Given the description of an element on the screen output the (x, y) to click on. 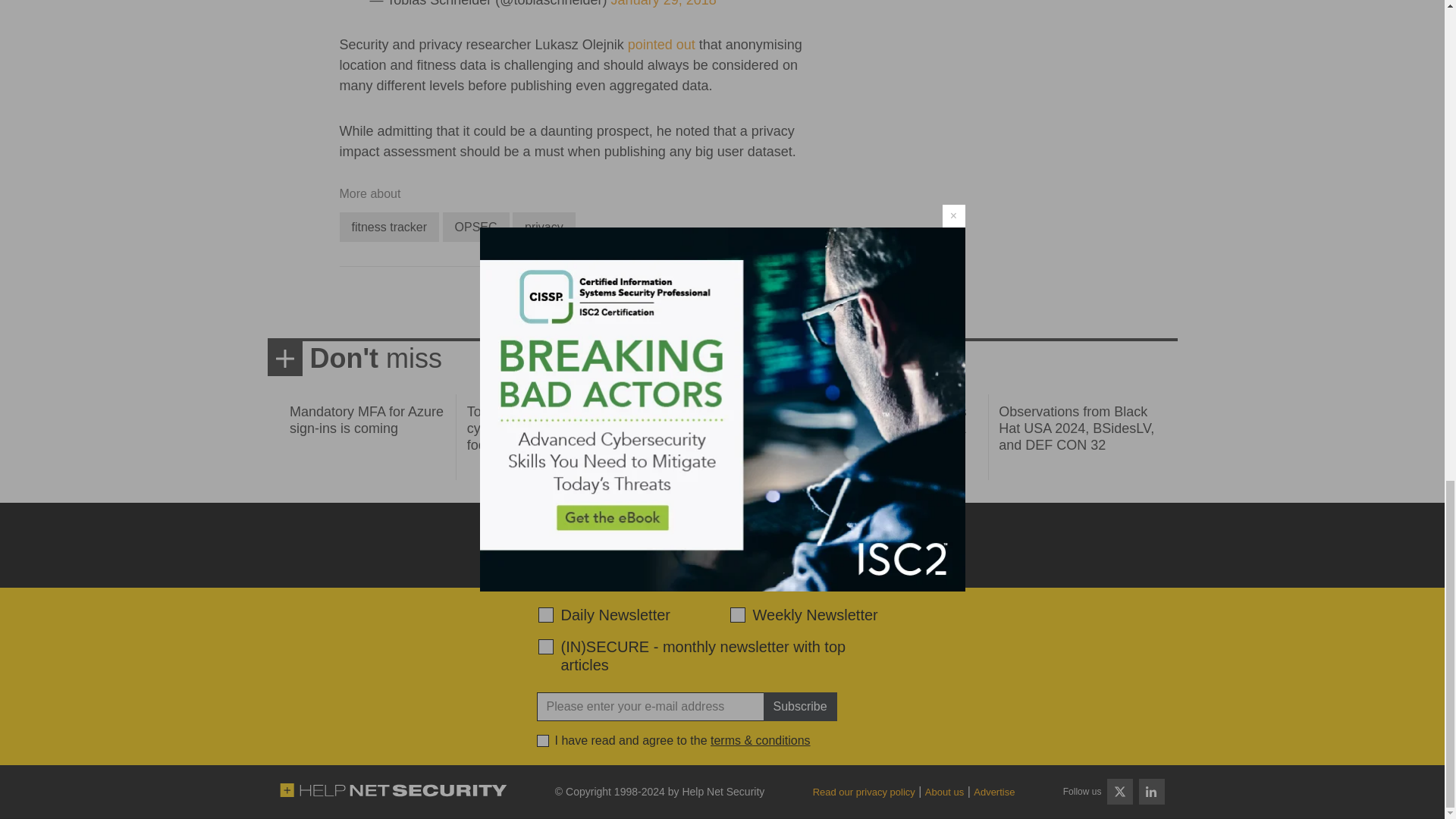
520ac2f639 (545, 614)
pointed out (661, 44)
28abe5d9ef (545, 646)
January 29, 2018 (663, 3)
OPSEC (475, 226)
fitness tracker (389, 226)
privacy (543, 226)
